Given the description of an element on the screen output the (x, y) to click on. 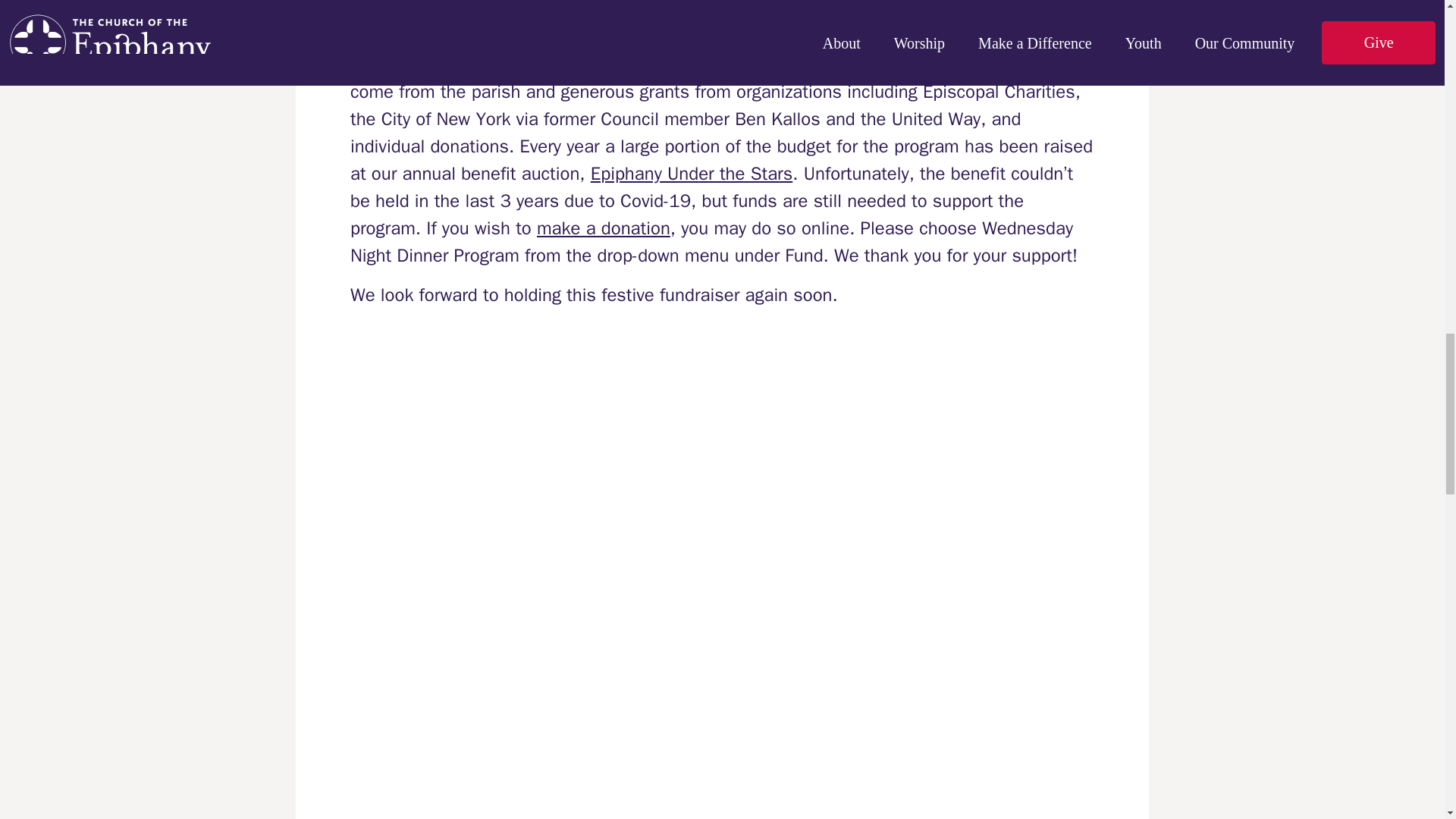
make a donation (603, 228)
Epiphany Under the Stars (691, 173)
